Given the description of an element on the screen output the (x, y) to click on. 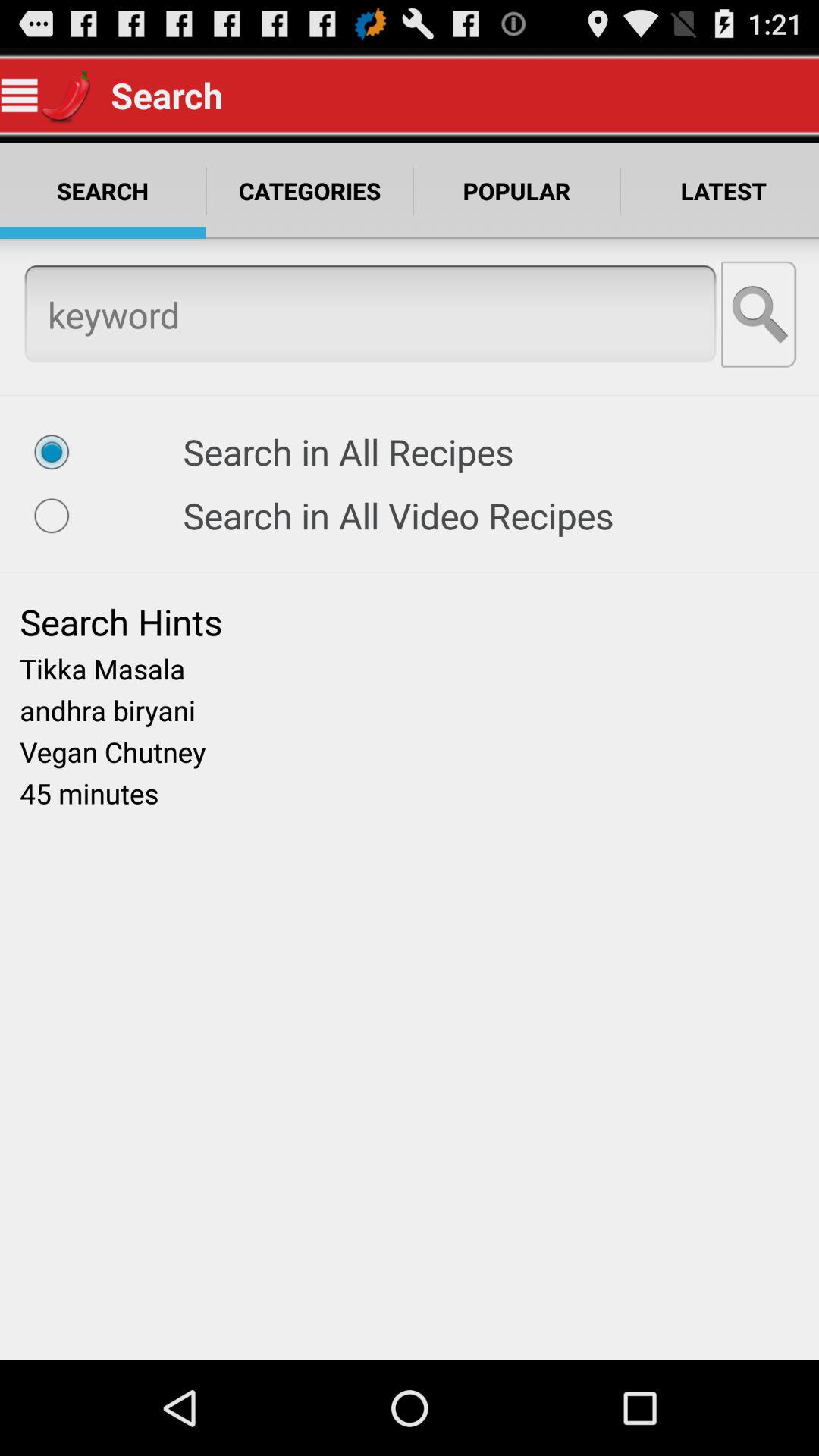
open app below latest item (759, 314)
